Given the description of an element on the screen output the (x, y) to click on. 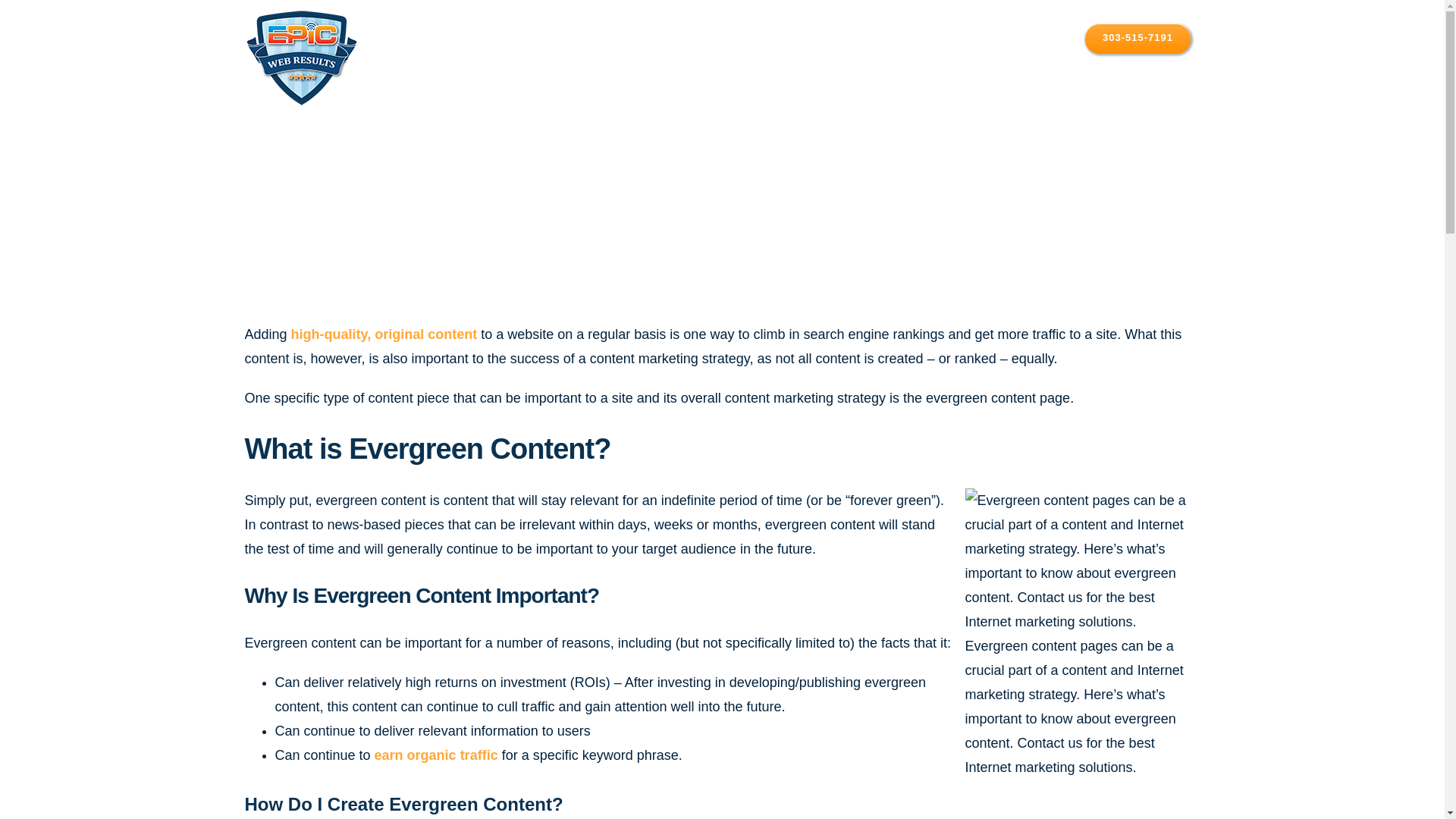
303-515-7191 (1137, 38)
Why Hire Us? (703, 38)
Who We Are (799, 38)
What We Do (897, 38)
Contact Us (1035, 38)
